Given the description of an element on the screen output the (x, y) to click on. 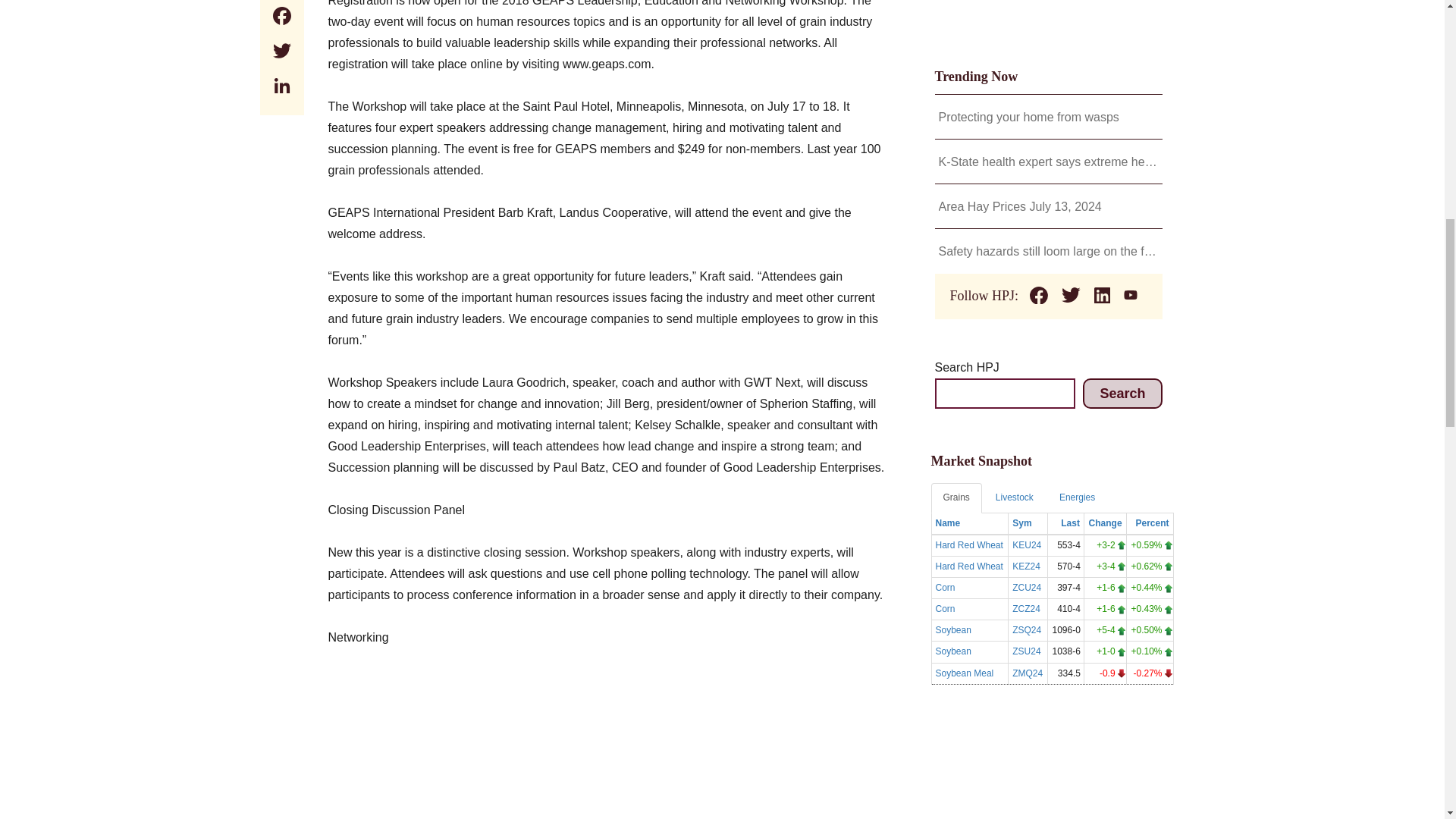
3rd party ad content (608, 753)
Protecting your home from wasps (1048, 117)
Area Hay Prices July 13, 2024 (1048, 206)
Safety hazards still loom large on the farm (1048, 251)
